Given the description of an element on the screen output the (x, y) to click on. 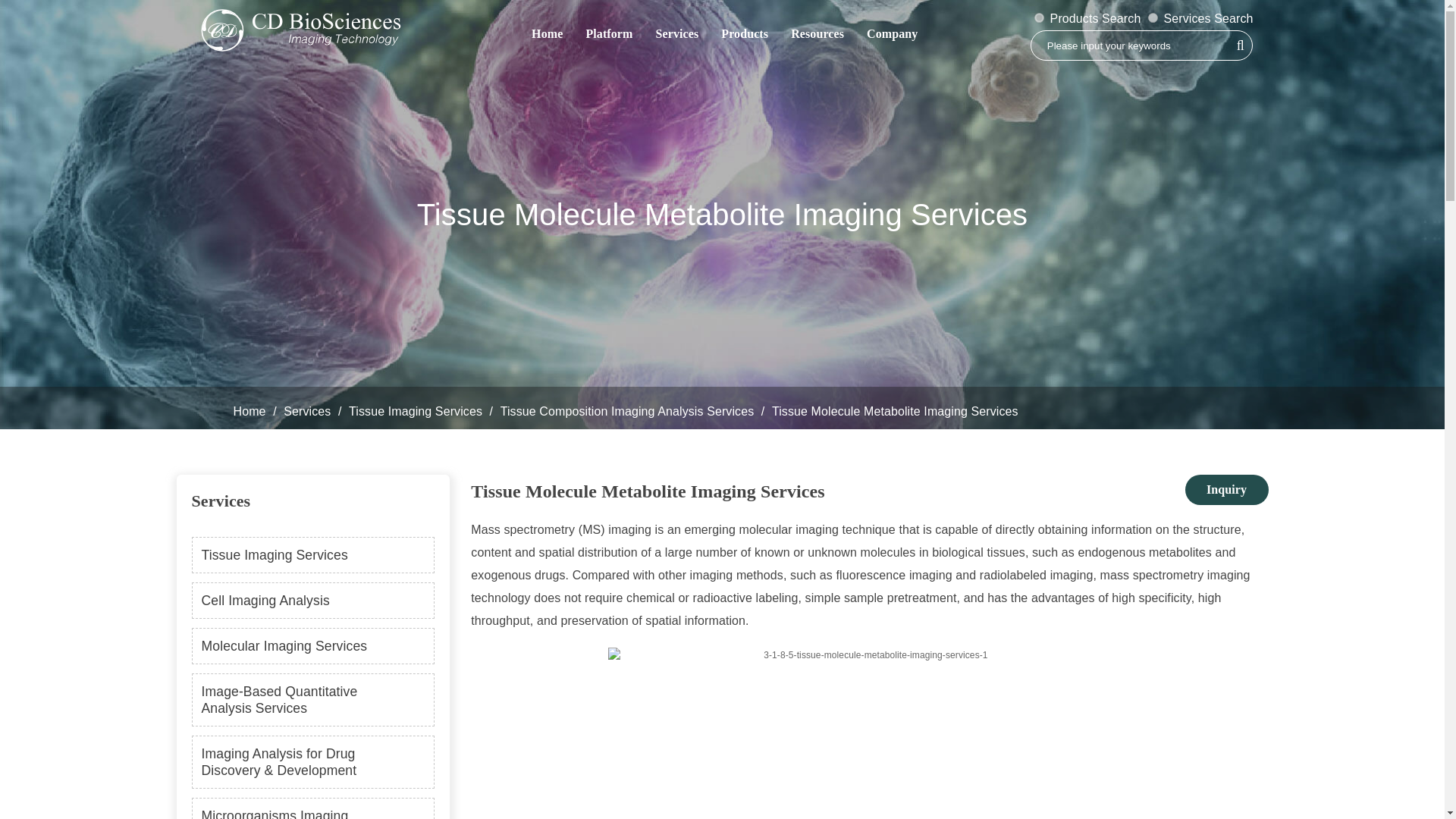
Home (546, 33)
Platform (608, 33)
1 (1152, 17)
2 (1038, 17)
1 (1152, 17)
Services (676, 33)
2 (1038, 17)
